Given the description of an element on the screen output the (x, y) to click on. 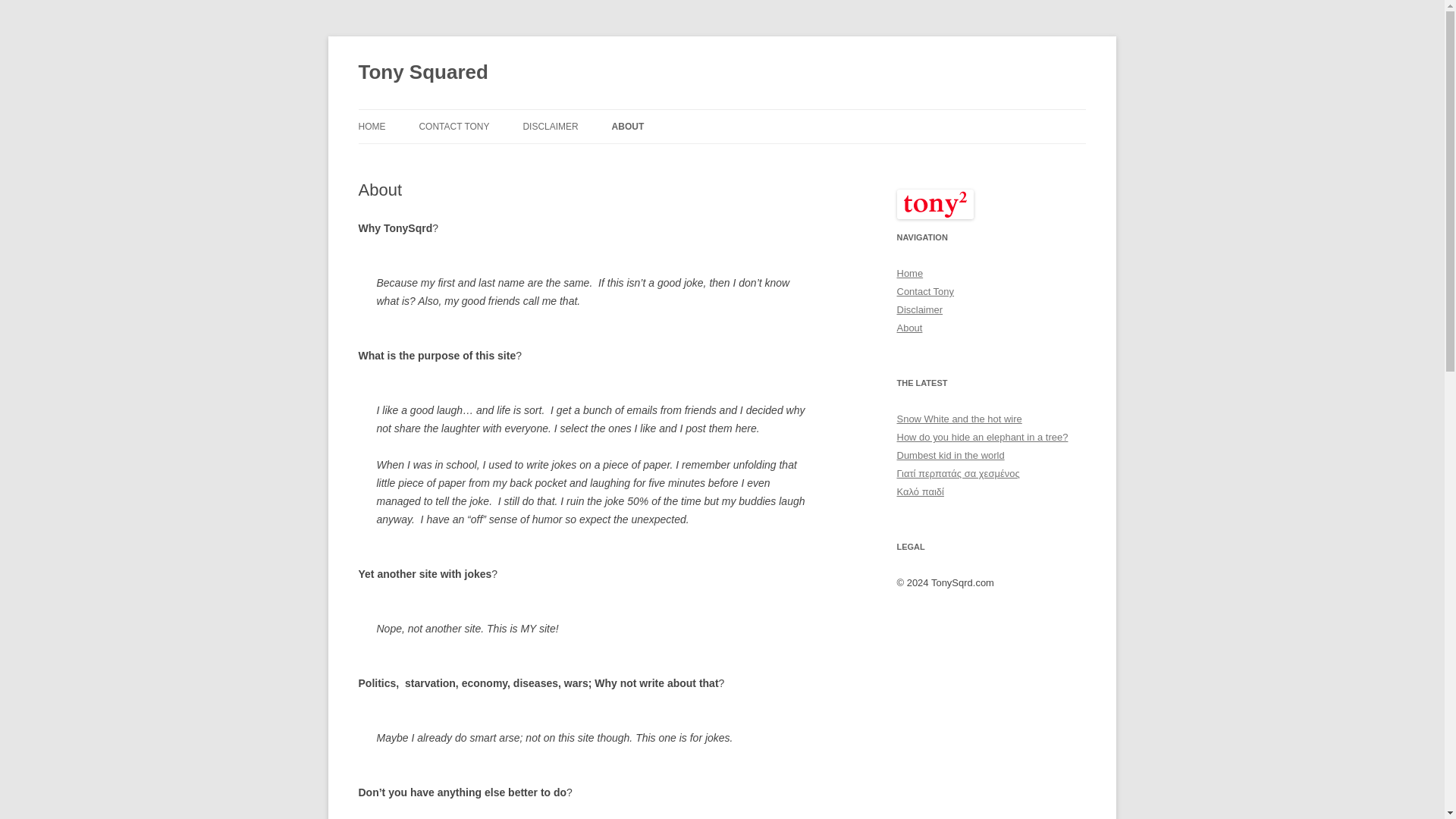
About (908, 327)
Disclaimer (919, 309)
Tony Squared (422, 72)
How do you hide an elephant in a tree? (981, 437)
CONTACT TONY (454, 126)
Snow White and the hot wire (959, 419)
DISCLAIMER (550, 126)
Home (909, 273)
Contact Tony (924, 291)
